Given the description of an element on the screen output the (x, y) to click on. 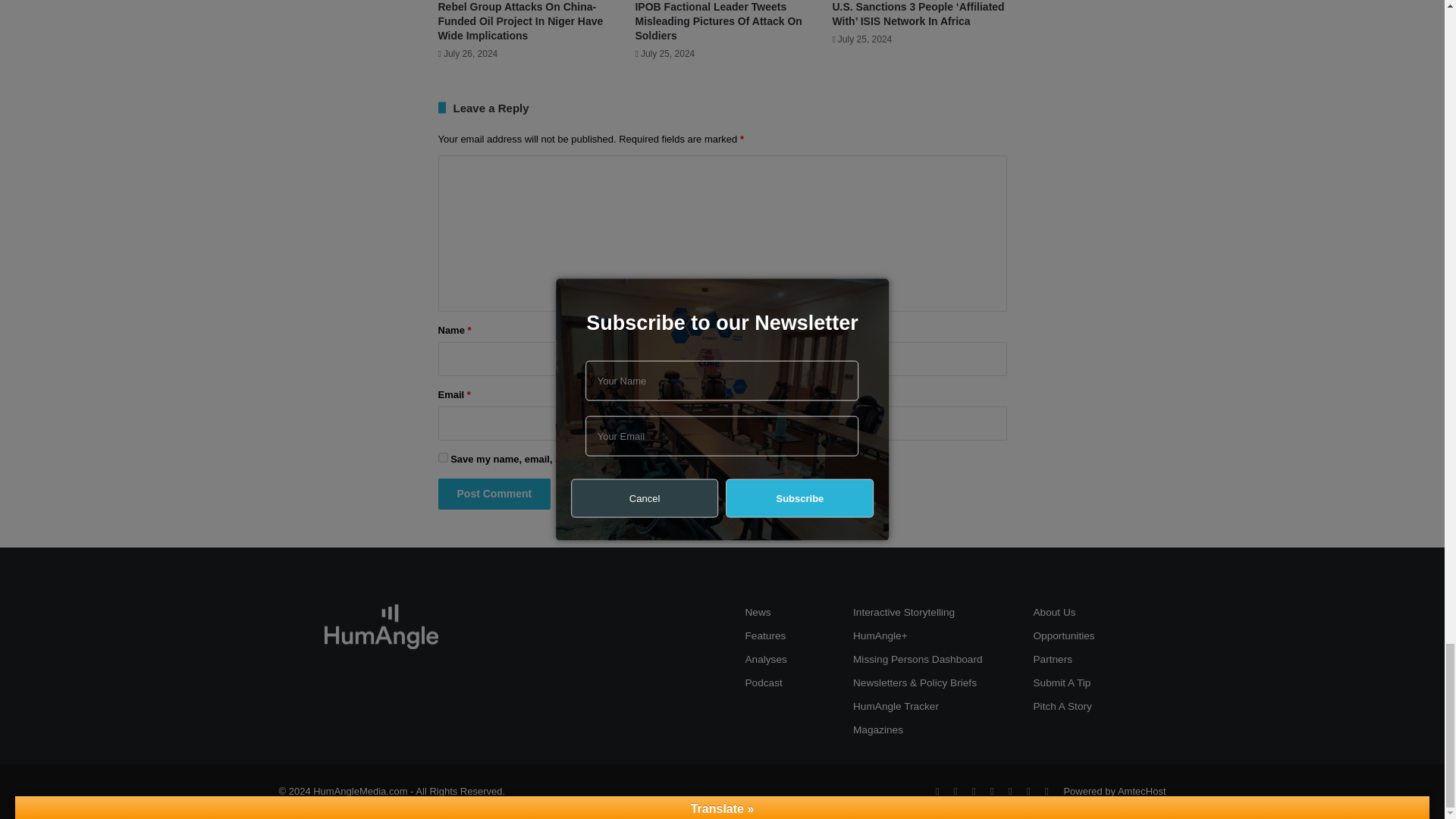
Post Comment (494, 493)
yes (443, 457)
